Given the description of an element on the screen output the (x, y) to click on. 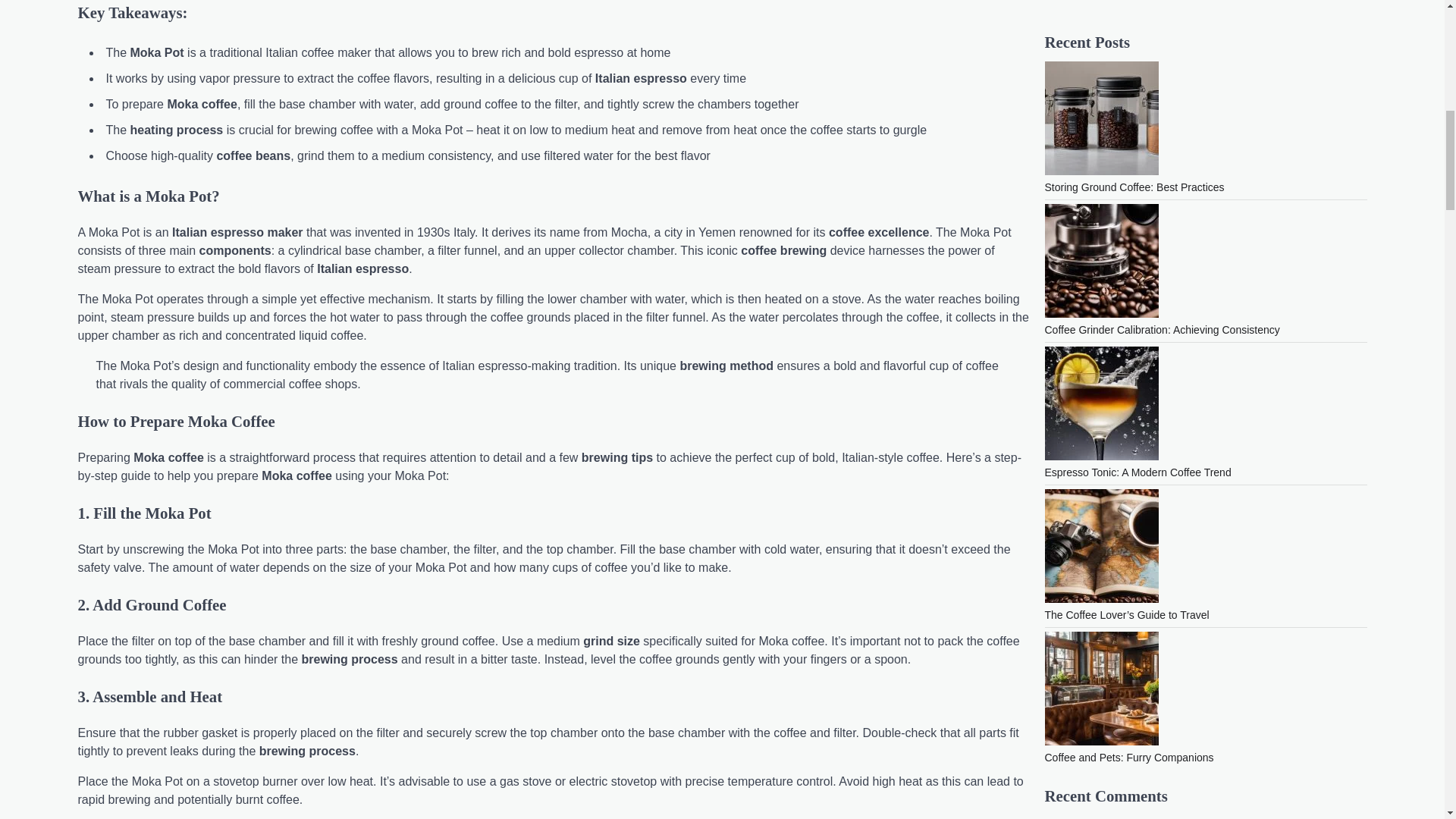
Lifestyle (1064, 480)
Tools (1057, 504)
January 2024 (1077, 367)
July 2024 (1067, 221)
June 2024 (1069, 245)
August 2024 (1075, 196)
May 2024 (1067, 269)
September 2024 (1084, 173)
April 2024 (1069, 294)
February 2024 (1079, 342)
